Given the description of an element on the screen output the (x, y) to click on. 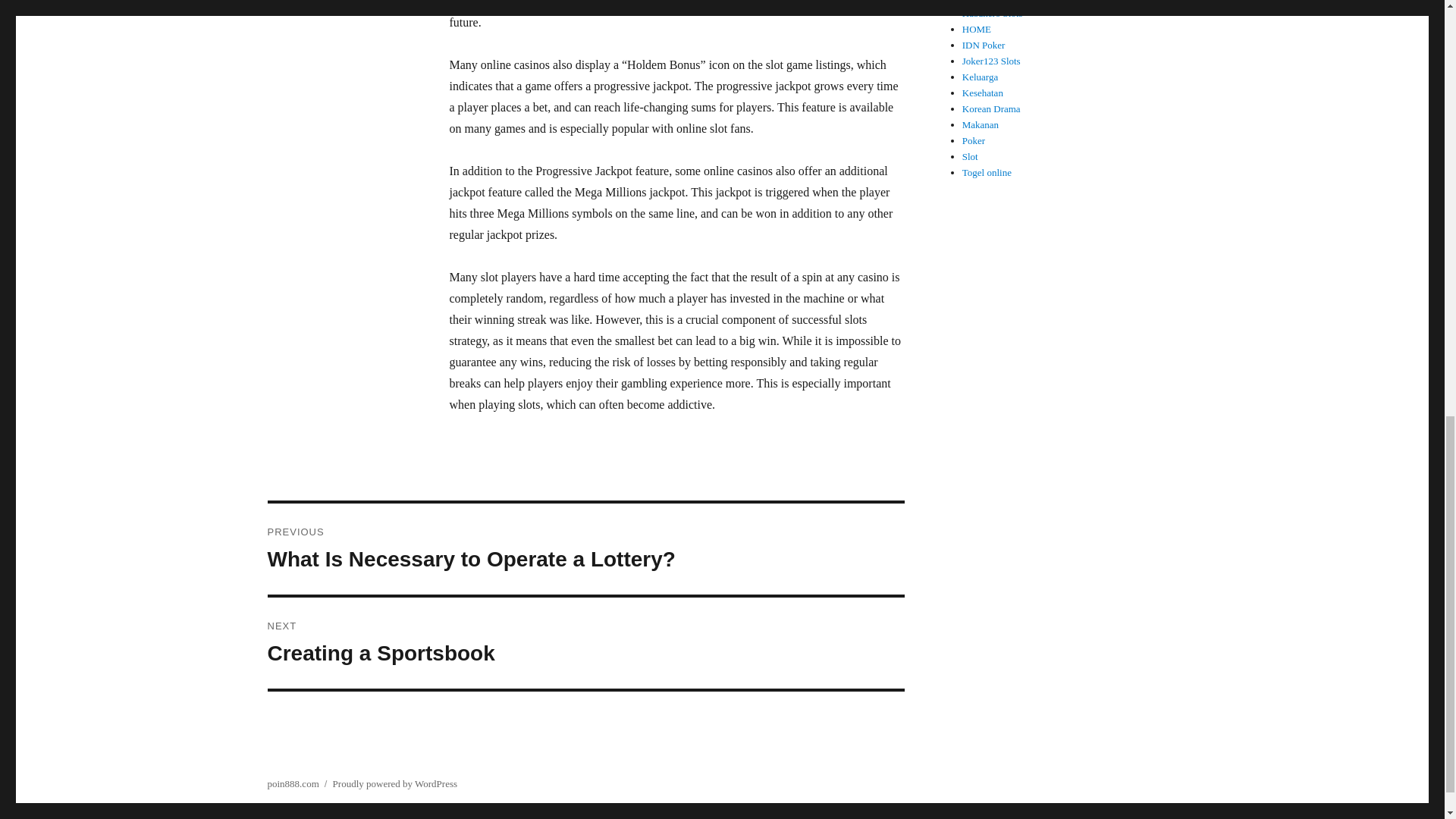
IDN Poker (984, 44)
Berita Terupdate (994, 1)
Slot (585, 642)
Kesehatan (970, 156)
Korean Drama (982, 92)
Keluarga (991, 108)
Habanero Slots (979, 76)
Makanan (992, 12)
